Given the description of an element on the screen output the (x, y) to click on. 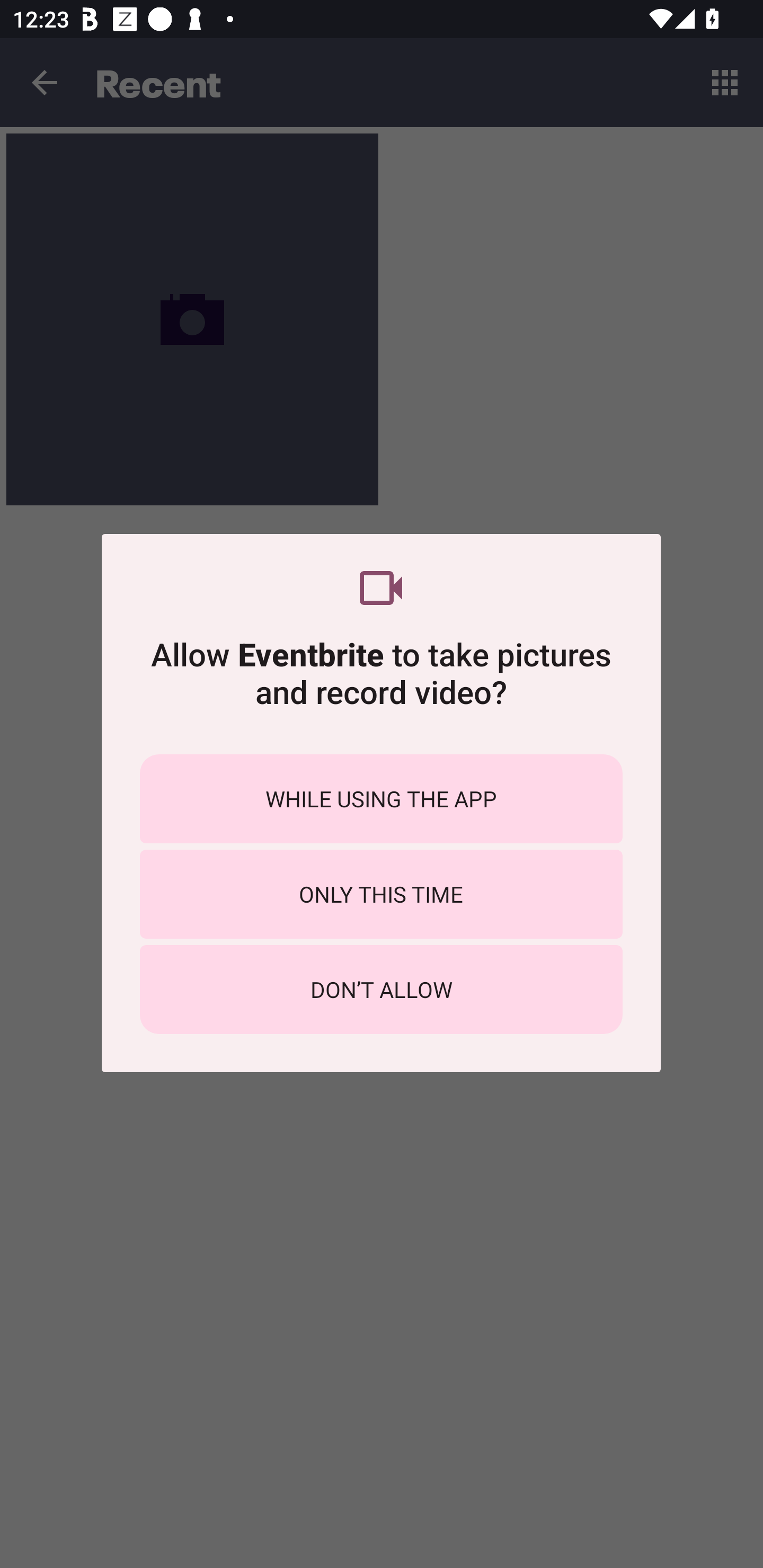
WHILE USING THE APP (380, 798)
ONLY THIS TIME (380, 894)
DON’T ALLOW (380, 989)
